Given the description of an element on the screen output the (x, y) to click on. 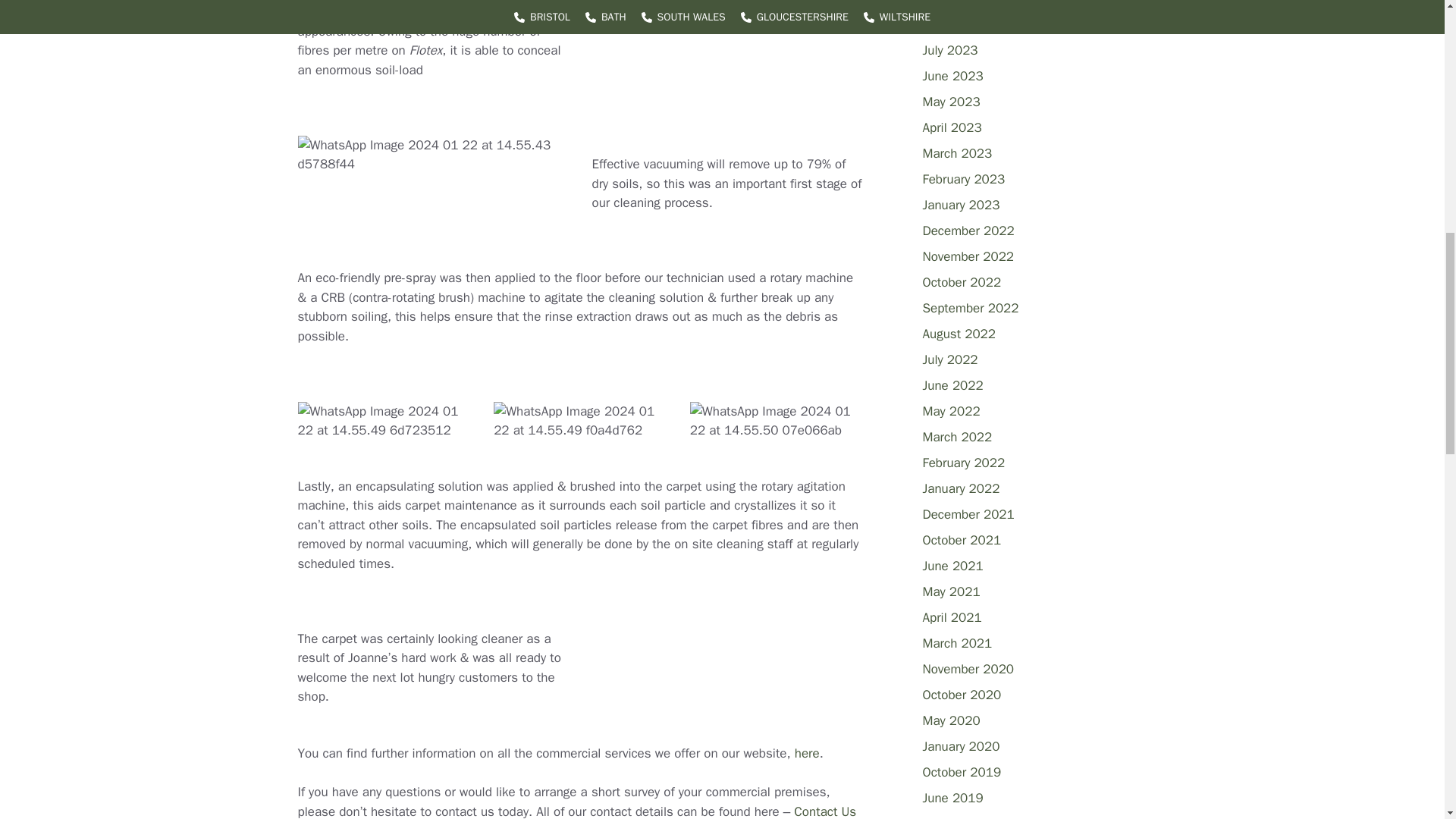
Successful Commercial carpet clean at Longleat 8 (579, 421)
Successful Commercial carpet clean at Longleat 6 (382, 421)
Successful Commercial carpet clean at Longleat 4 (432, 154)
Successful Commercial carpet clean at Longleat 10 (775, 421)
